Given the description of an element on the screen output the (x, y) to click on. 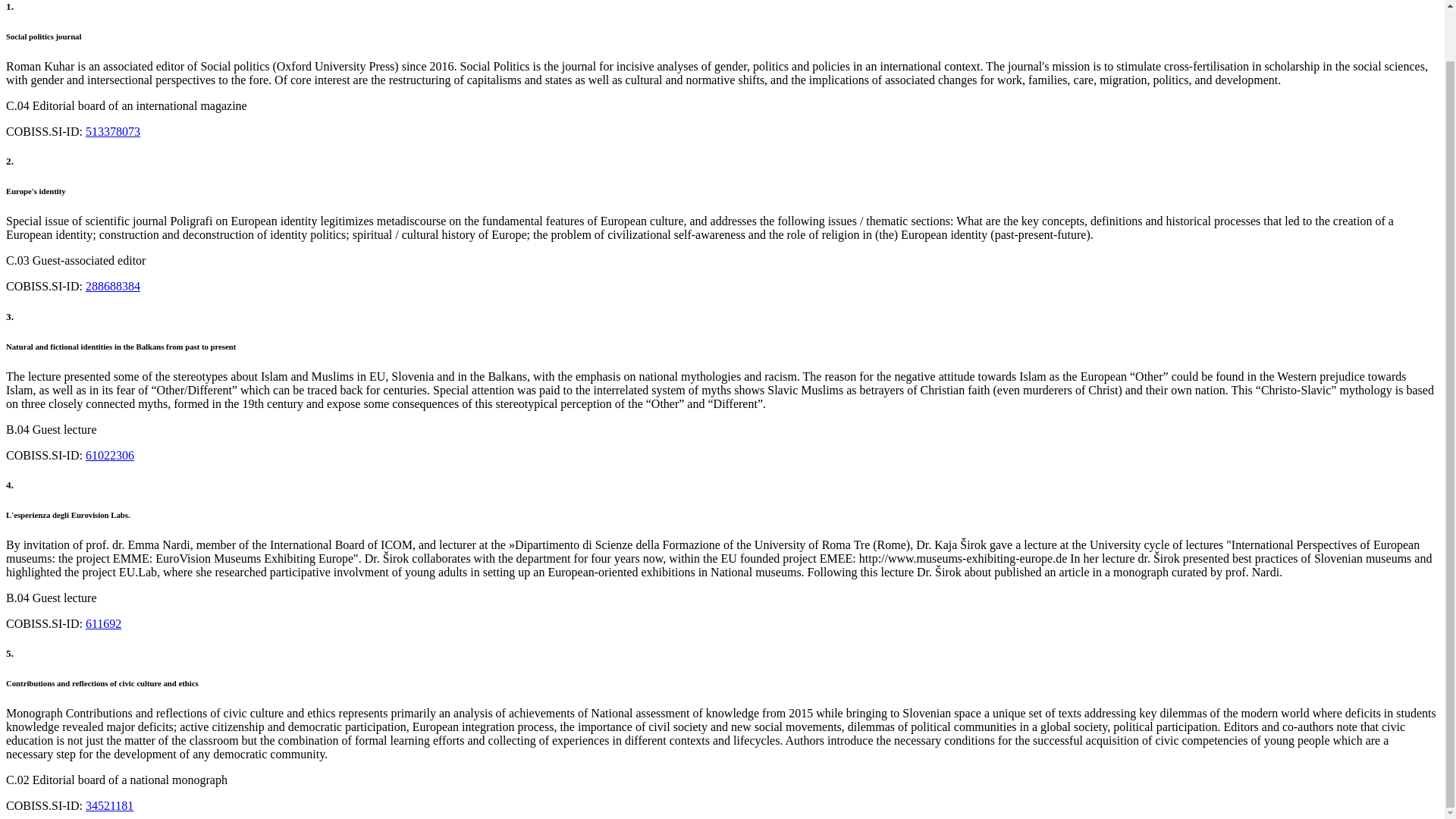
288688384 (112, 286)
513378073 (112, 131)
61022306 (109, 454)
34521181 (109, 805)
611692 (102, 623)
